Given the description of an element on the screen output the (x, y) to click on. 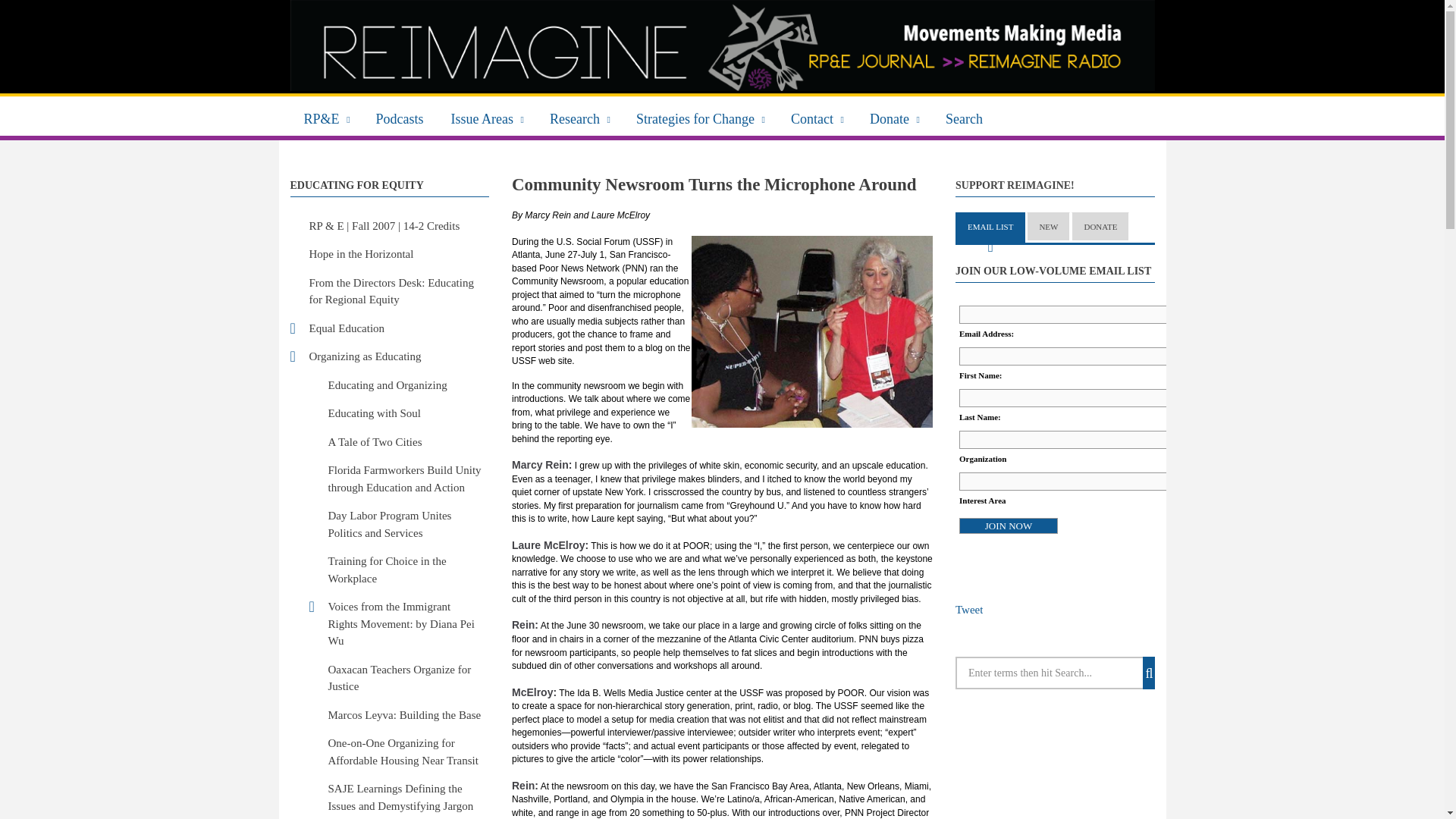
Issue Areas (486, 117)
Enter terms then hit Search... (1054, 672)
Strategies for Change (700, 117)
Home (721, 45)
Join Now (1008, 525)
Podcasts (400, 117)
Research (579, 117)
